Given the description of an element on the screen output the (x, y) to click on. 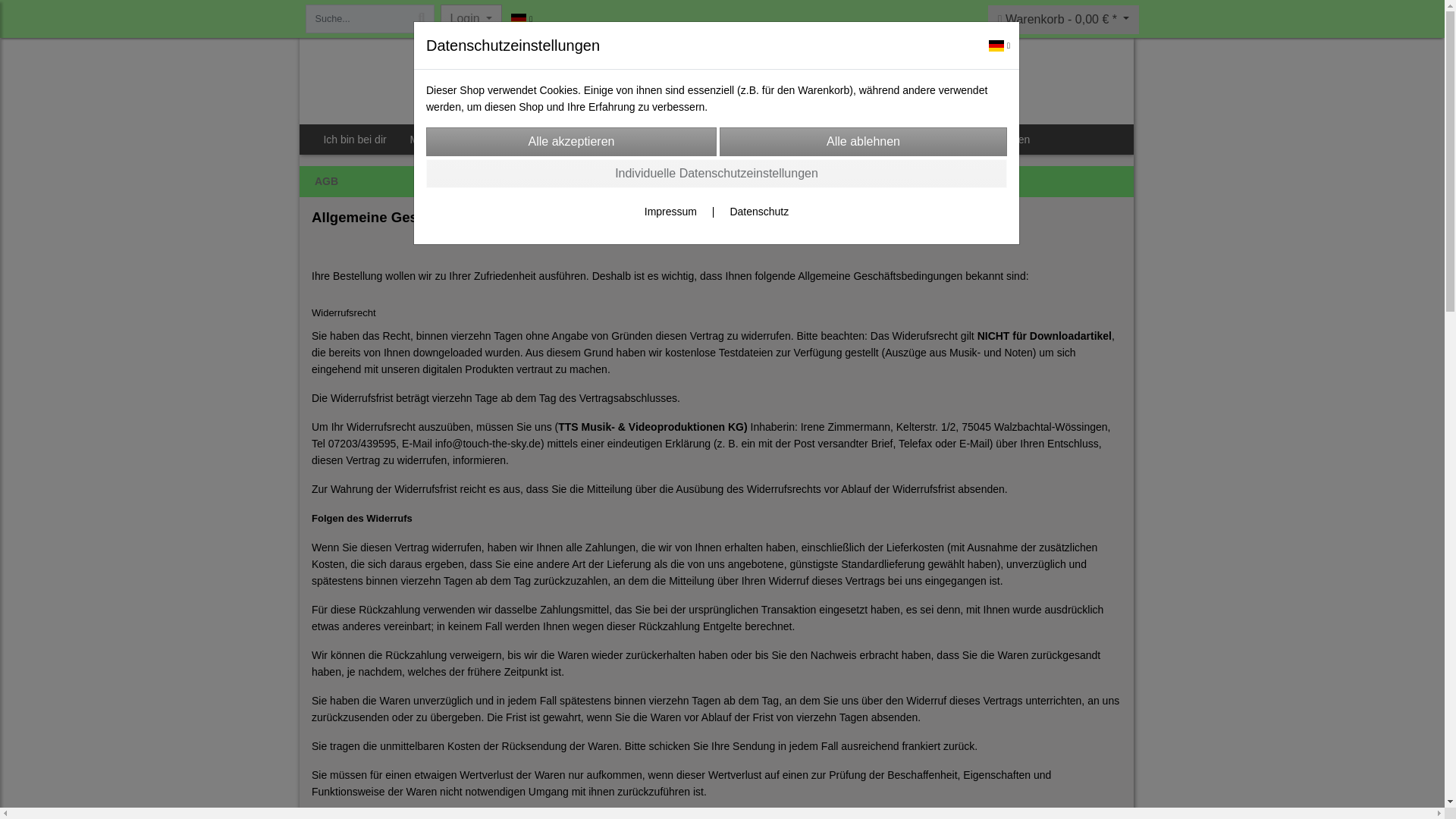
Lizenz "Ich bin bei dir" (809, 139)
Kontakt (904, 139)
Musicals (433, 139)
CDs (495, 139)
Online Unterricht (694, 139)
Ich bin bei dir (355, 139)
Alle ablehnen (863, 141)
Kulturwerk mieten (987, 139)
Alle akzeptieren (571, 141)
Login (470, 18)
